Given the description of an element on the screen output the (x, y) to click on. 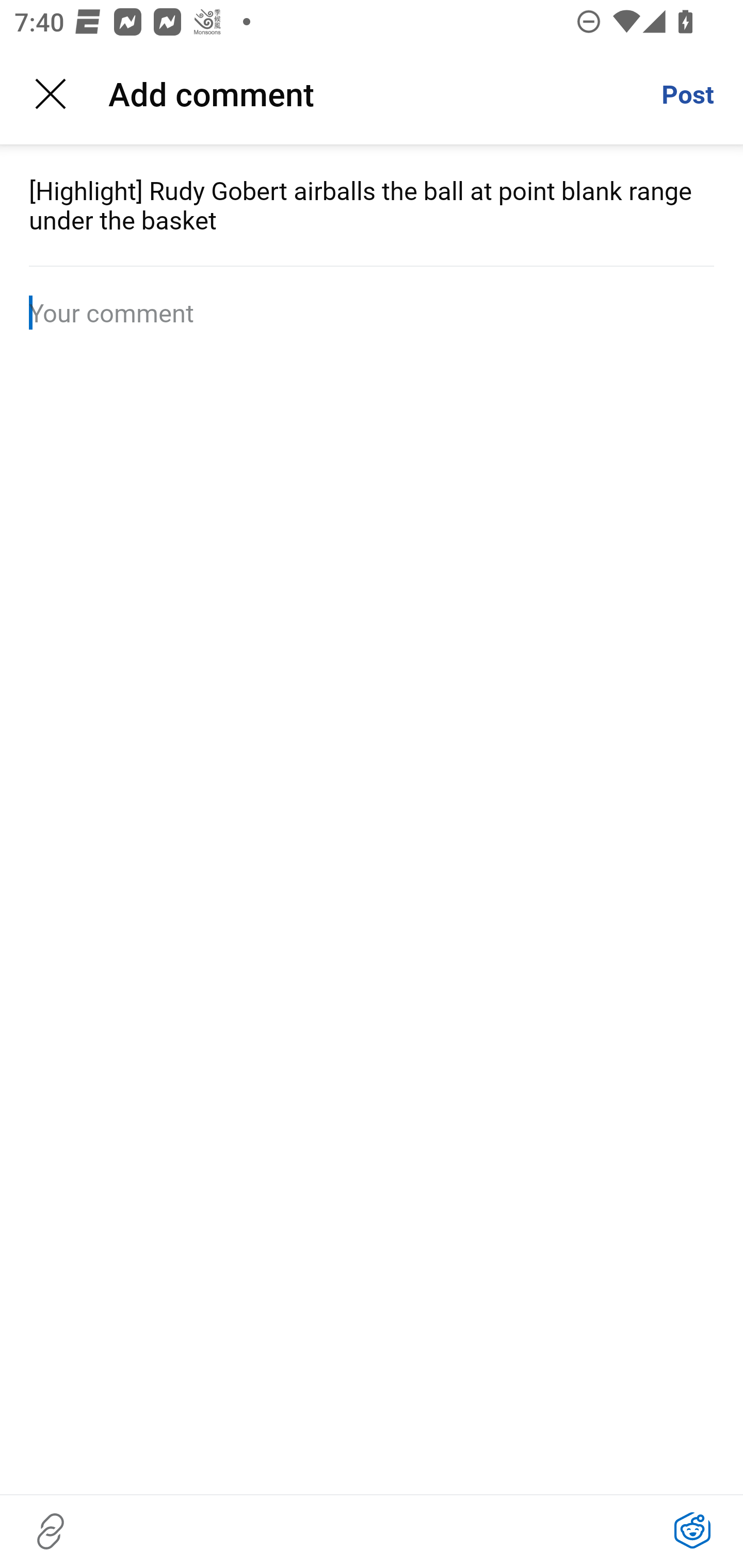
Close (50, 93)
Post (687, 94)
Your comment (371, 312)
Insert a link (50, 1530)
Show Expressions (692, 1530)
